Given the description of an element on the screen output the (x, y) to click on. 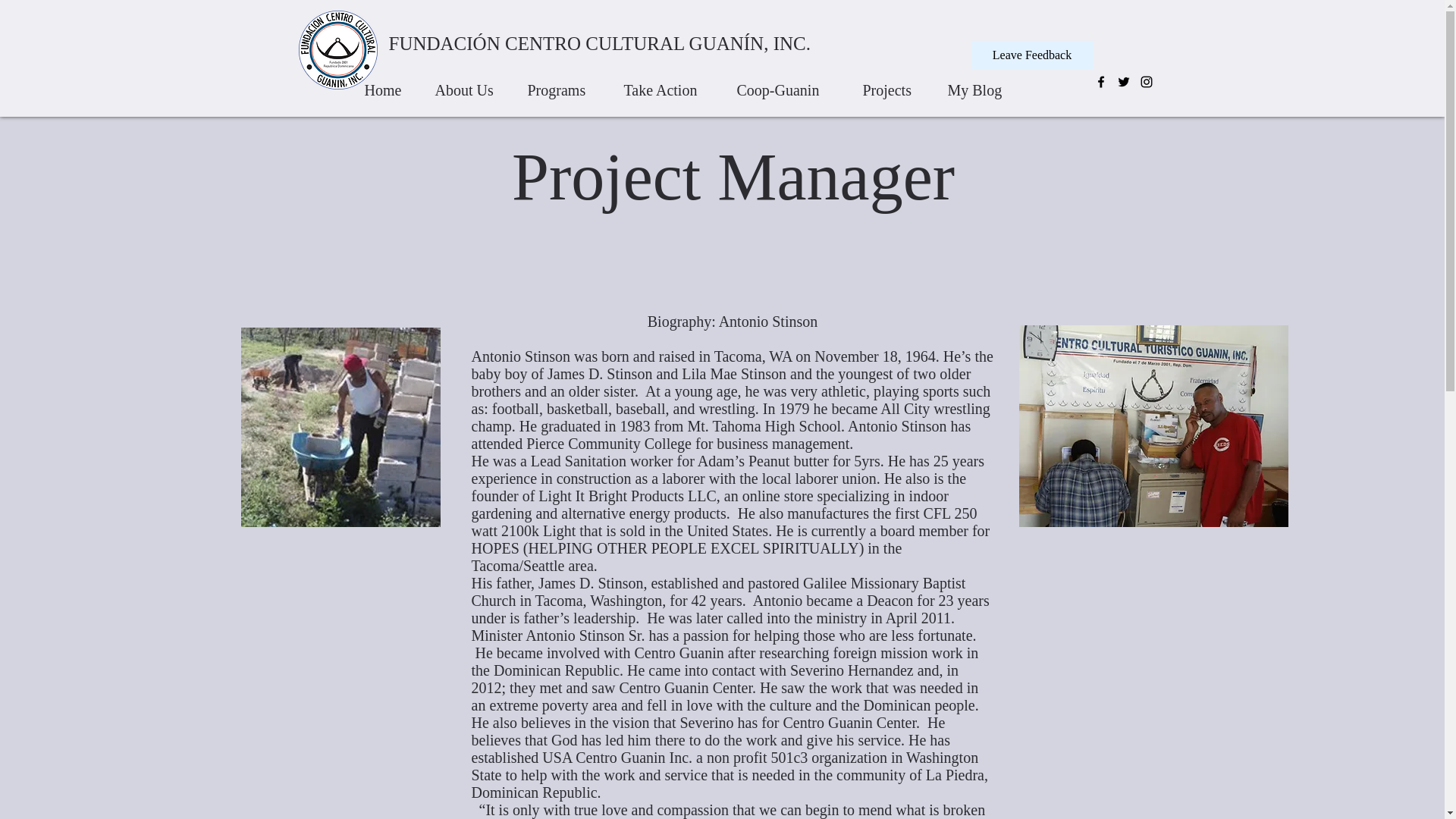
Take Action (666, 83)
Projects (891, 83)
About Us (467, 83)
Leave Feedback (1032, 54)
Coop-Guanin (785, 83)
Programs (561, 83)
Home (385, 83)
My Blog (976, 83)
